Given the description of an element on the screen output the (x, y) to click on. 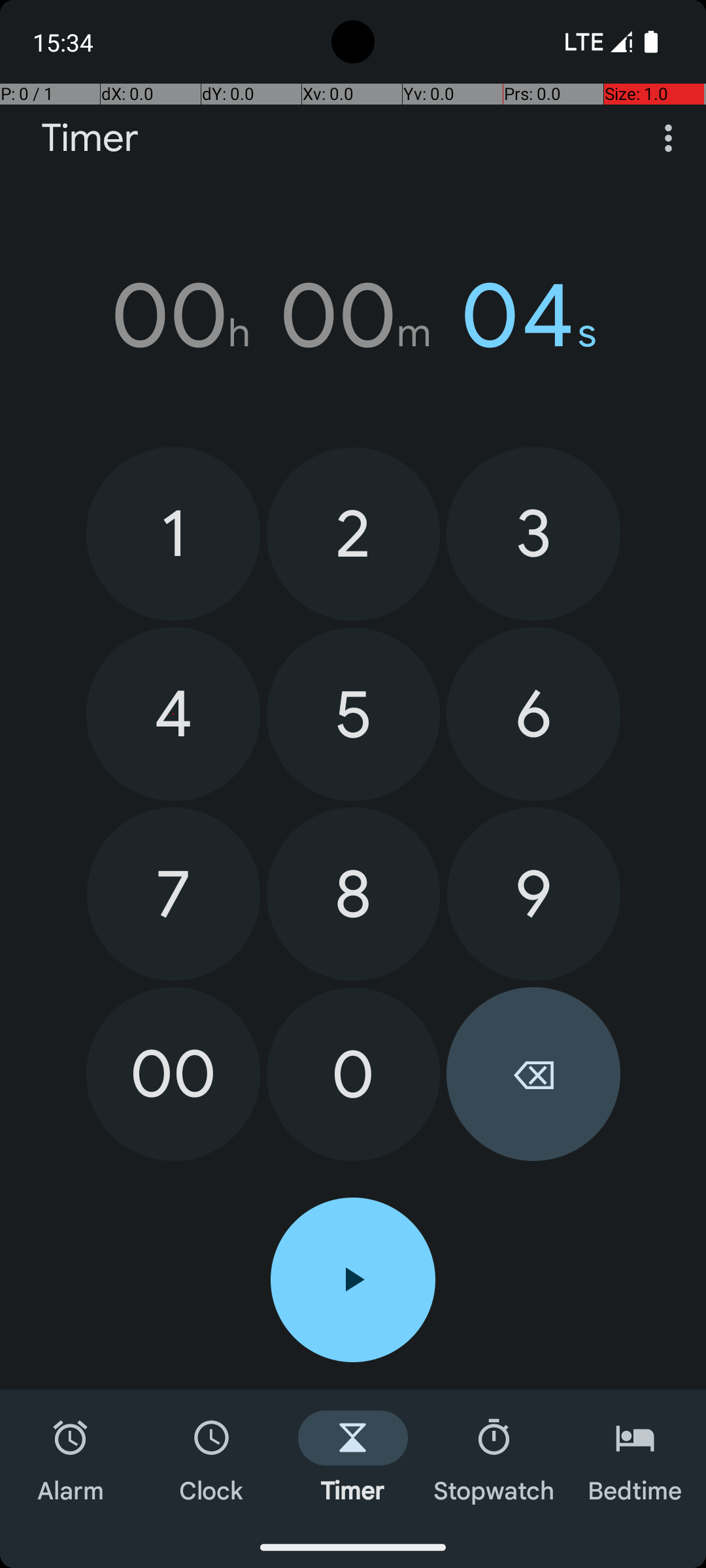
00h 00m 04s Element type: android.widget.TextView (353, 315)
